Given the description of an element on the screen output the (x, y) to click on. 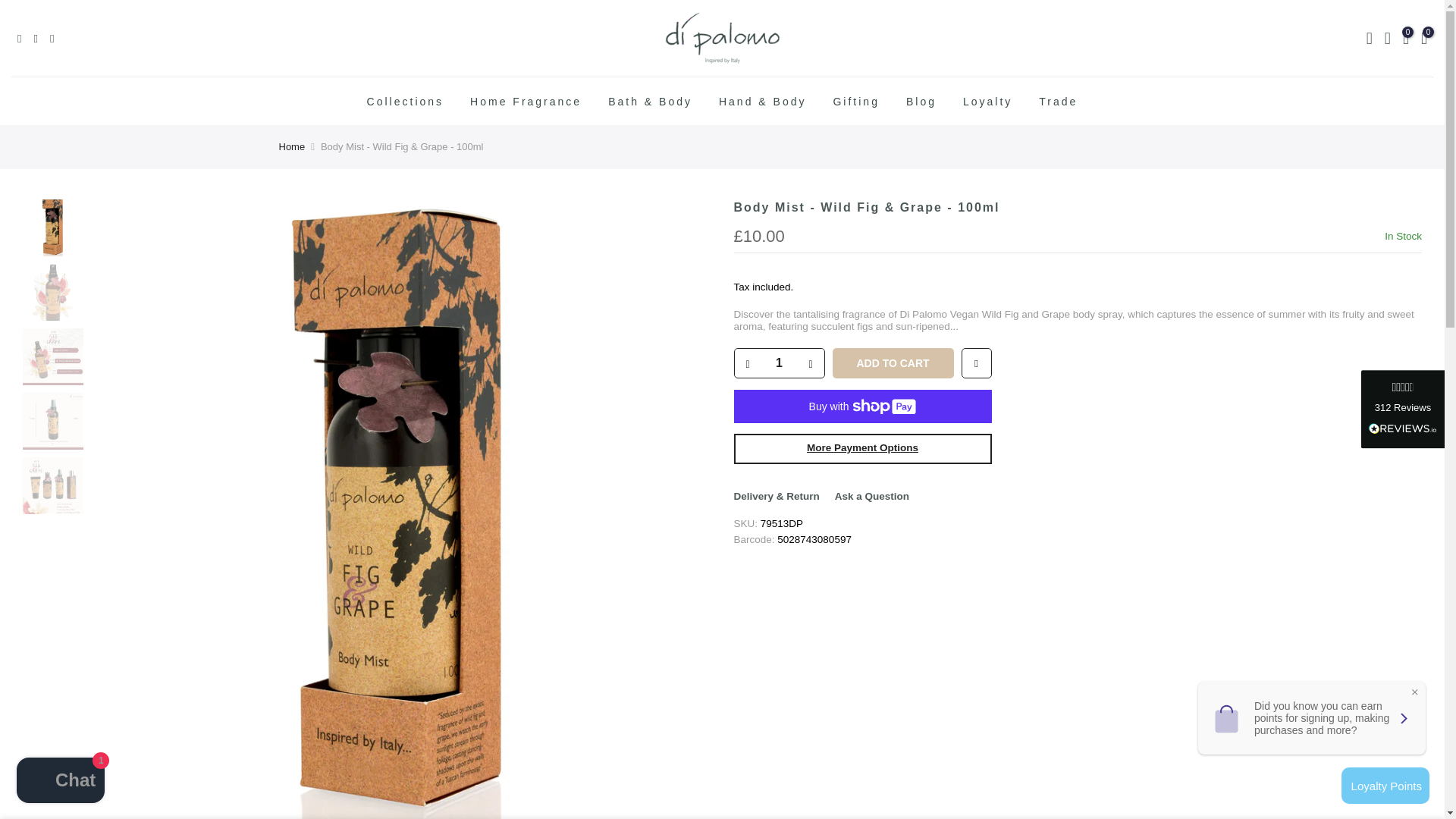
REVIEWS.io (1402, 428)
0 (1405, 38)
Home Fragrance (526, 100)
4.7 Stars (1402, 387)
Collections (405, 100)
1 (778, 362)
